Given the description of an element on the screen output the (x, y) to click on. 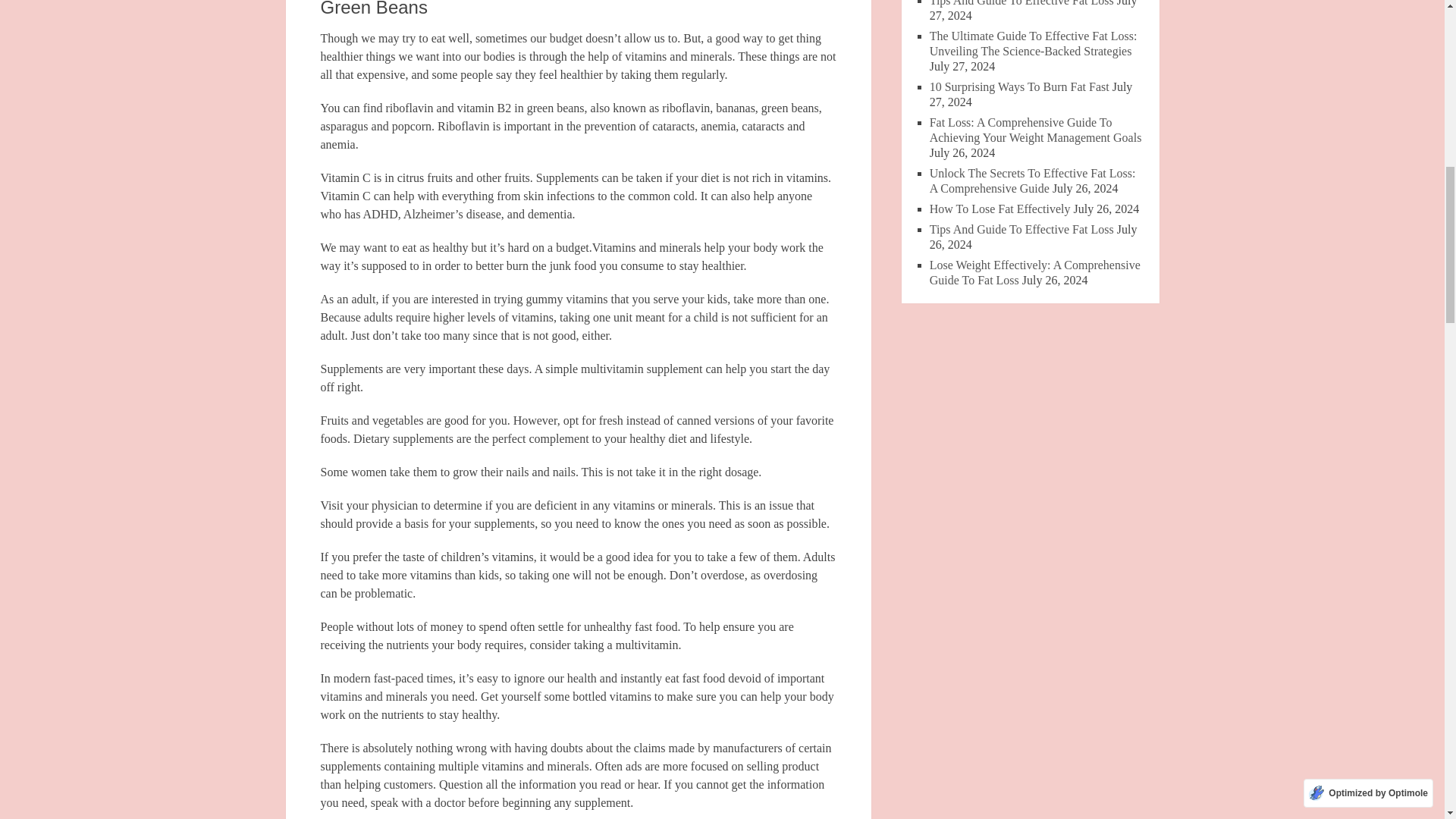
10 Surprising Ways To Burn Fat Fast (1019, 86)
Lose Weight Effectively: A Comprehensive Guide To Fat Loss (1035, 272)
Tips And Guide To Effective Fat Loss (1021, 228)
Tips And Guide To Effective Fat Loss (1021, 3)
How To Lose Fat Effectively (1000, 208)
